Given the description of an element on the screen output the (x, y) to click on. 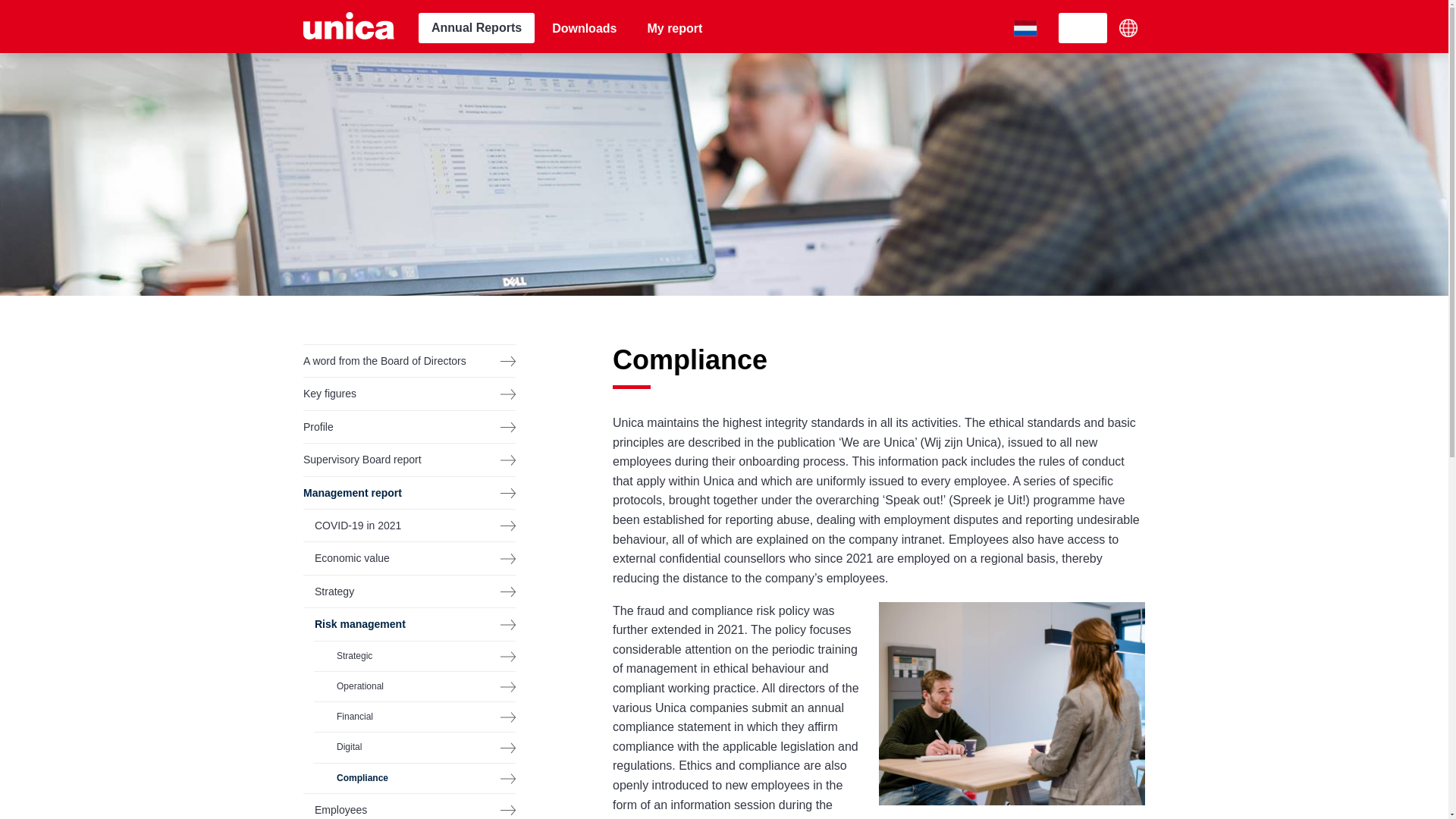
Back to home (348, 26)
Operational (414, 686)
A word from the Board of Directors (408, 360)
Financial (414, 716)
Go to searchpage (1082, 28)
Verander taal naar Nederlands (1024, 28)
Management report (408, 492)
Strategy (408, 591)
Key figures (408, 393)
Digital (414, 747)
